Given the description of an element on the screen output the (x, y) to click on. 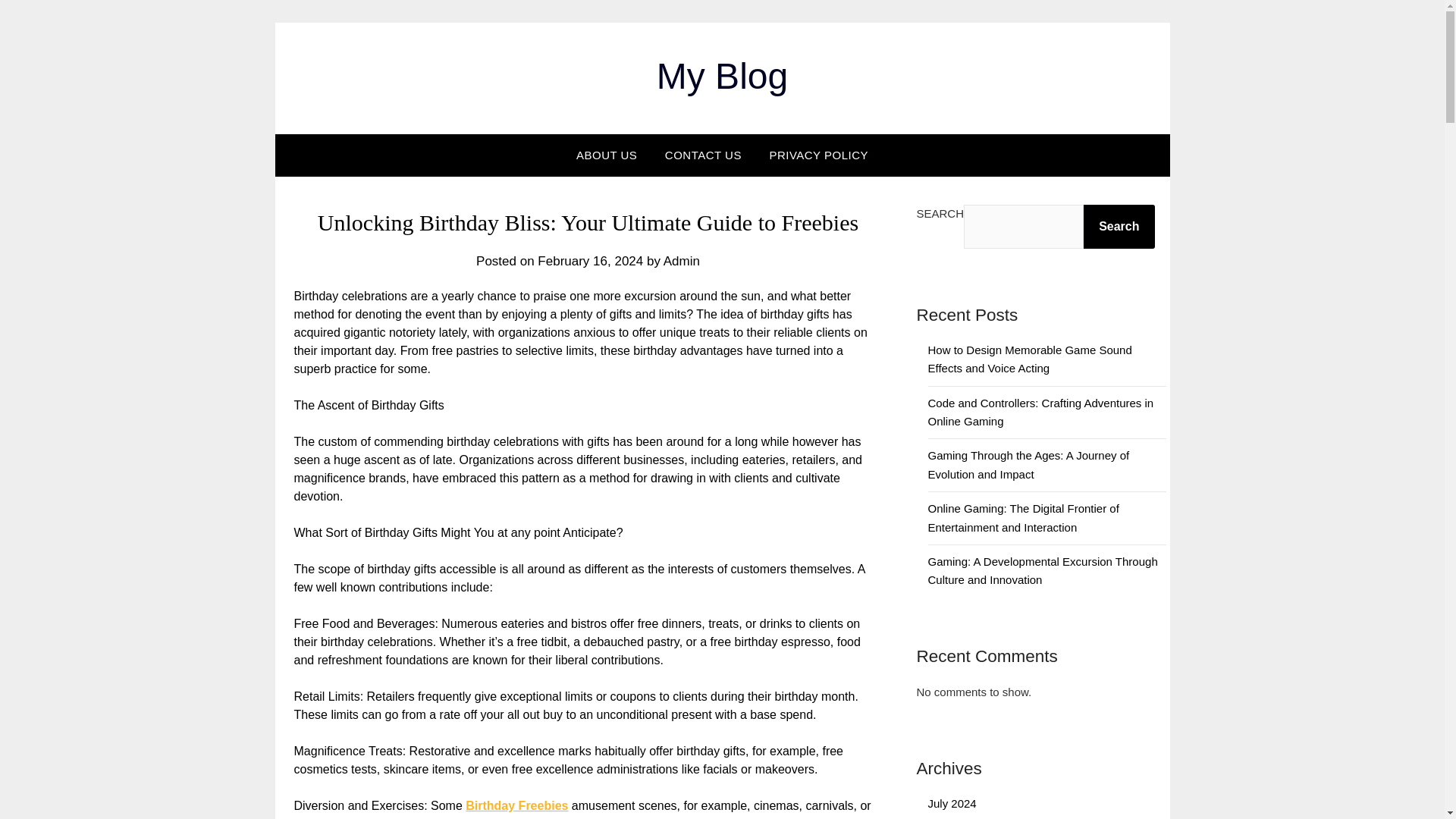
Code and Controllers: Crafting Adventures in Online Gaming (1041, 411)
Birthday Freebies (516, 805)
July 2024 (952, 802)
Gaming Through the Ages: A Journey of Evolution and Impact (1028, 463)
Admin (681, 260)
PRIVACY POLICY (818, 155)
ABOUT US (606, 155)
How to Design Memorable Game Sound Effects and Voice Acting (1030, 358)
My Blog (721, 76)
Search (1118, 226)
CONTACT US (703, 155)
February 16, 2024 (590, 260)
